Given the description of an element on the screen output the (x, y) to click on. 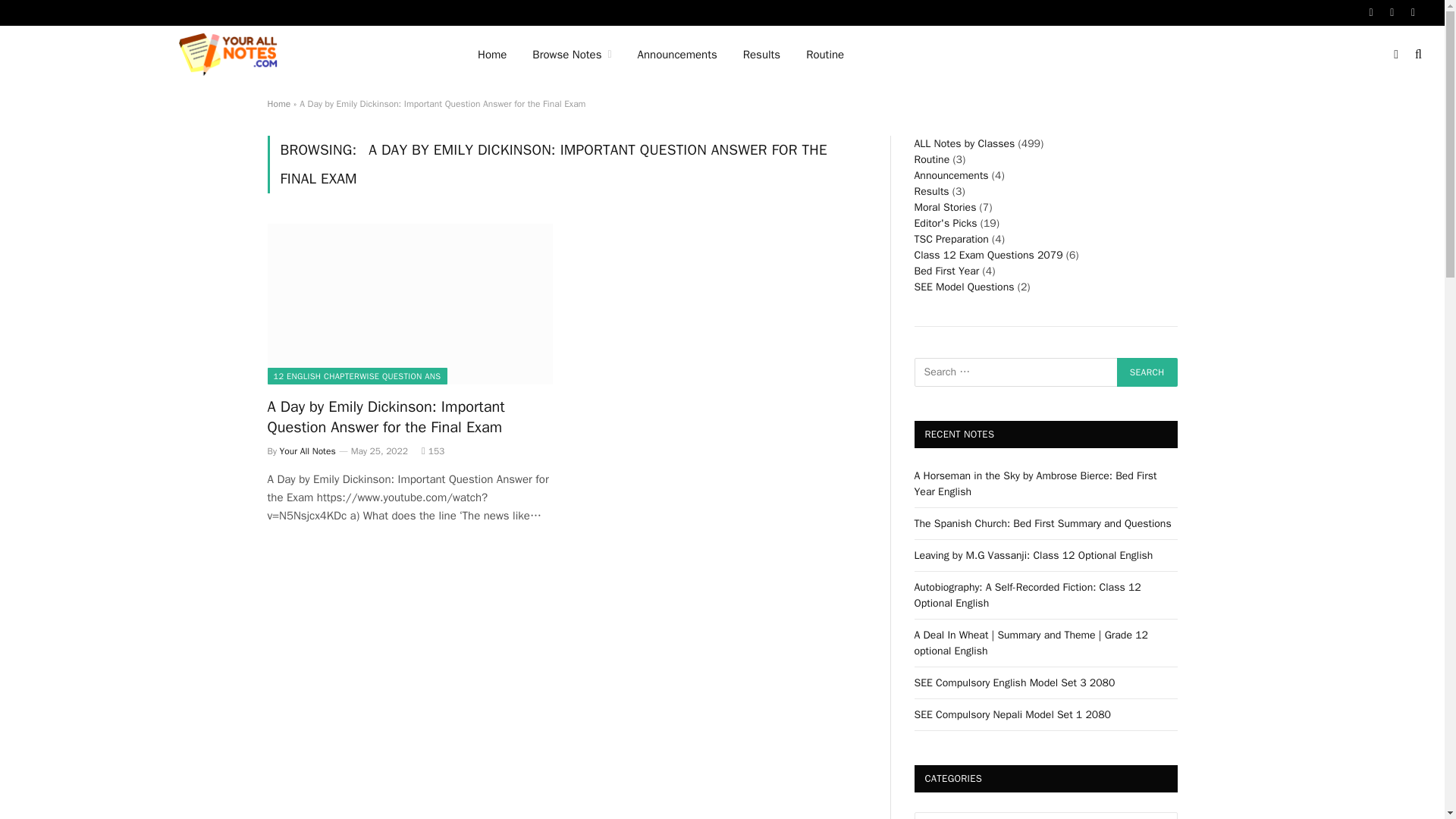
Home (491, 54)
Results (761, 54)
Your All Notes (230, 54)
Search (1146, 371)
Routine (825, 54)
Switch to Dark Design - easier on eyes. (1396, 54)
Search (1146, 371)
Browse Notes (571, 54)
Announcements (677, 54)
